Given the description of an element on the screen output the (x, y) to click on. 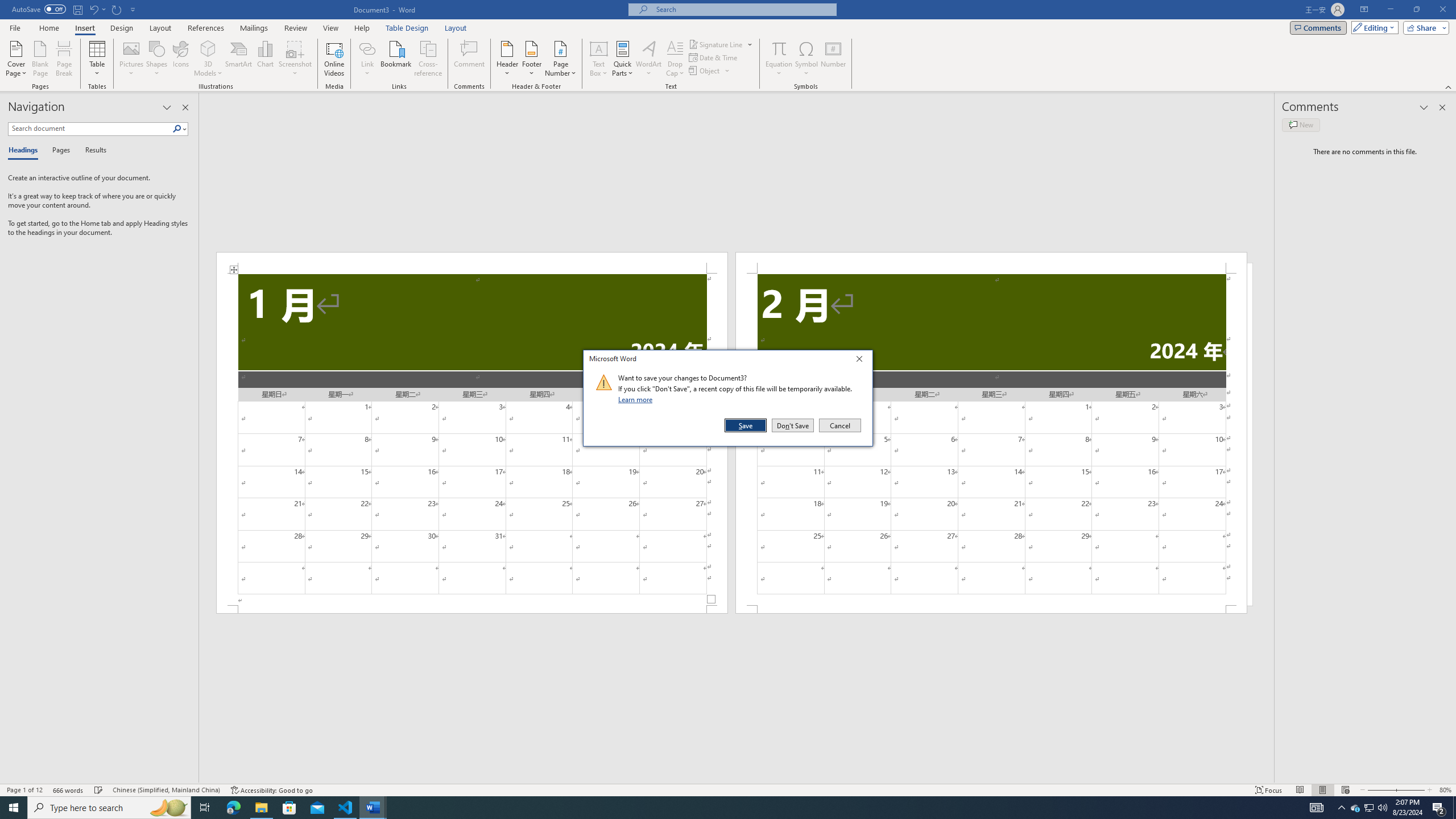
Start (13, 807)
Undo Increase Indent (96, 9)
Show desktop (1454, 807)
Header -Section 2- (991, 263)
Word Count 666 words (68, 790)
